Given the description of an element on the screen output the (x, y) to click on. 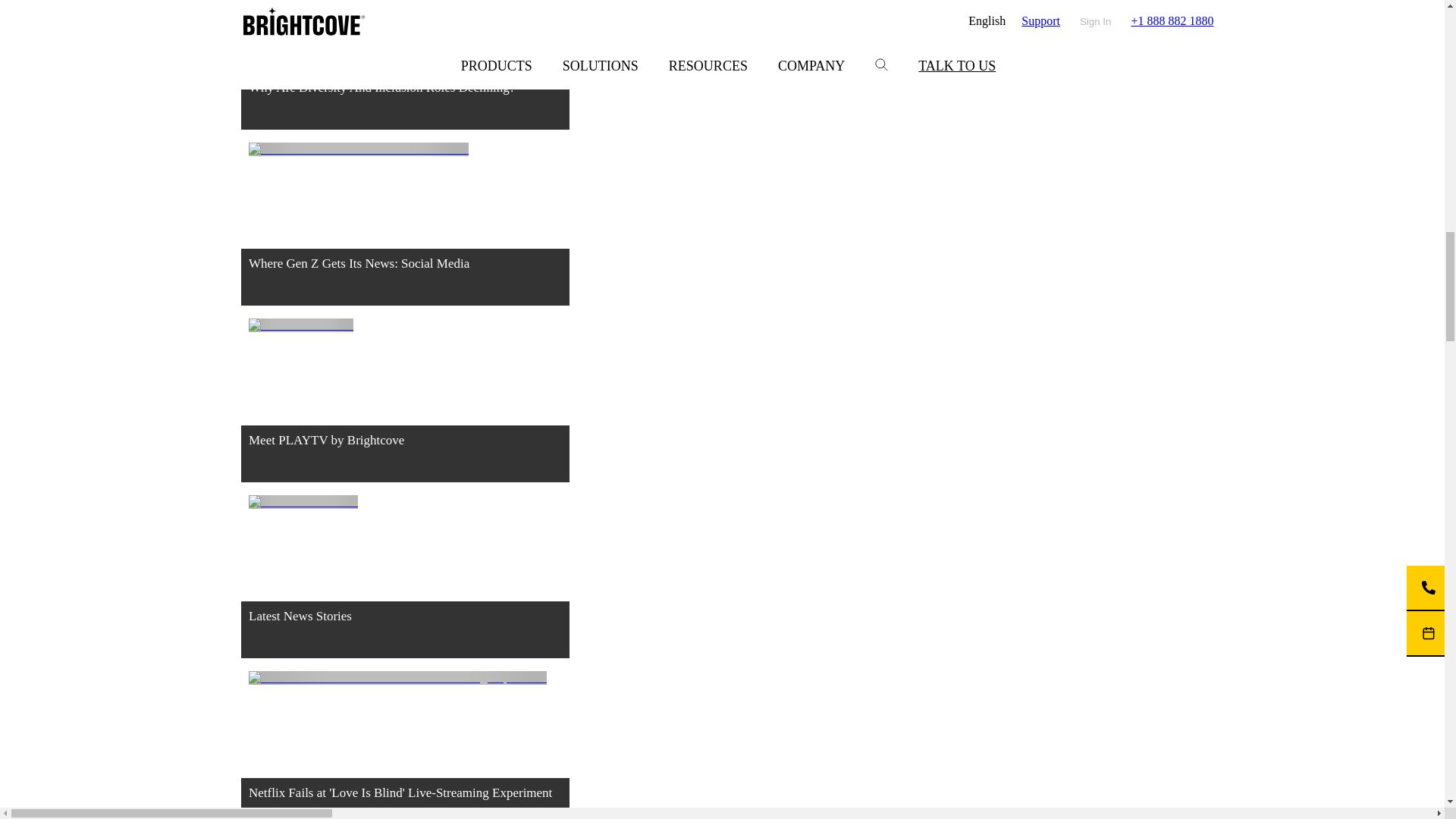
Netflix Fails at 'Love Is Blind' Live-Streaming Experiment (405, 744)
Why Are Diversity And Inclusion Roles Declining? (405, 70)
Latest News Stories (405, 582)
Meet PLAYTV by Brightcove (405, 406)
Where Gen Z Gets Its News: Social Media (405, 230)
